Given the description of an element on the screen output the (x, y) to click on. 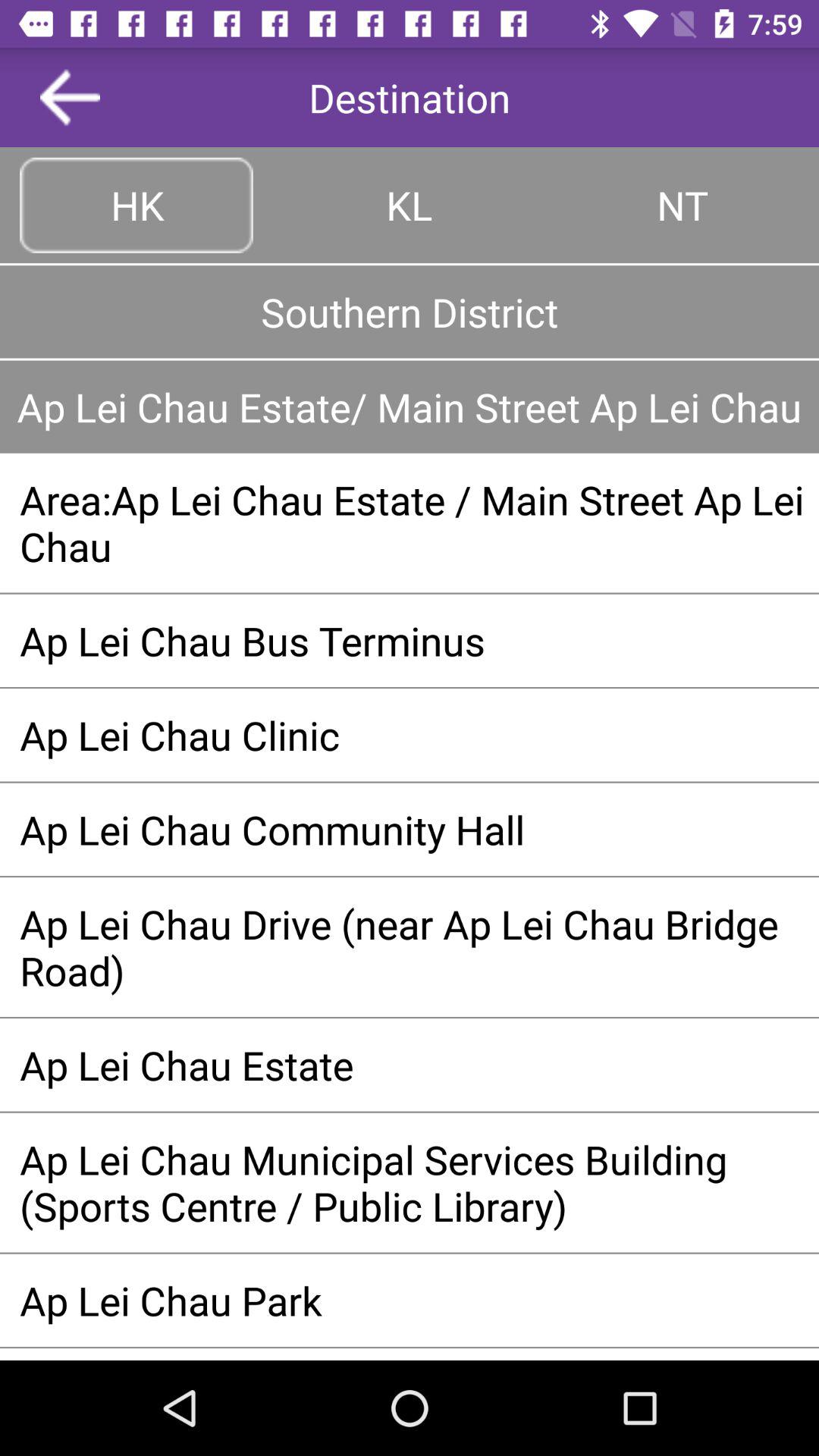
open the button to the right of kl icon (682, 205)
